Given the description of an element on the screen output the (x, y) to click on. 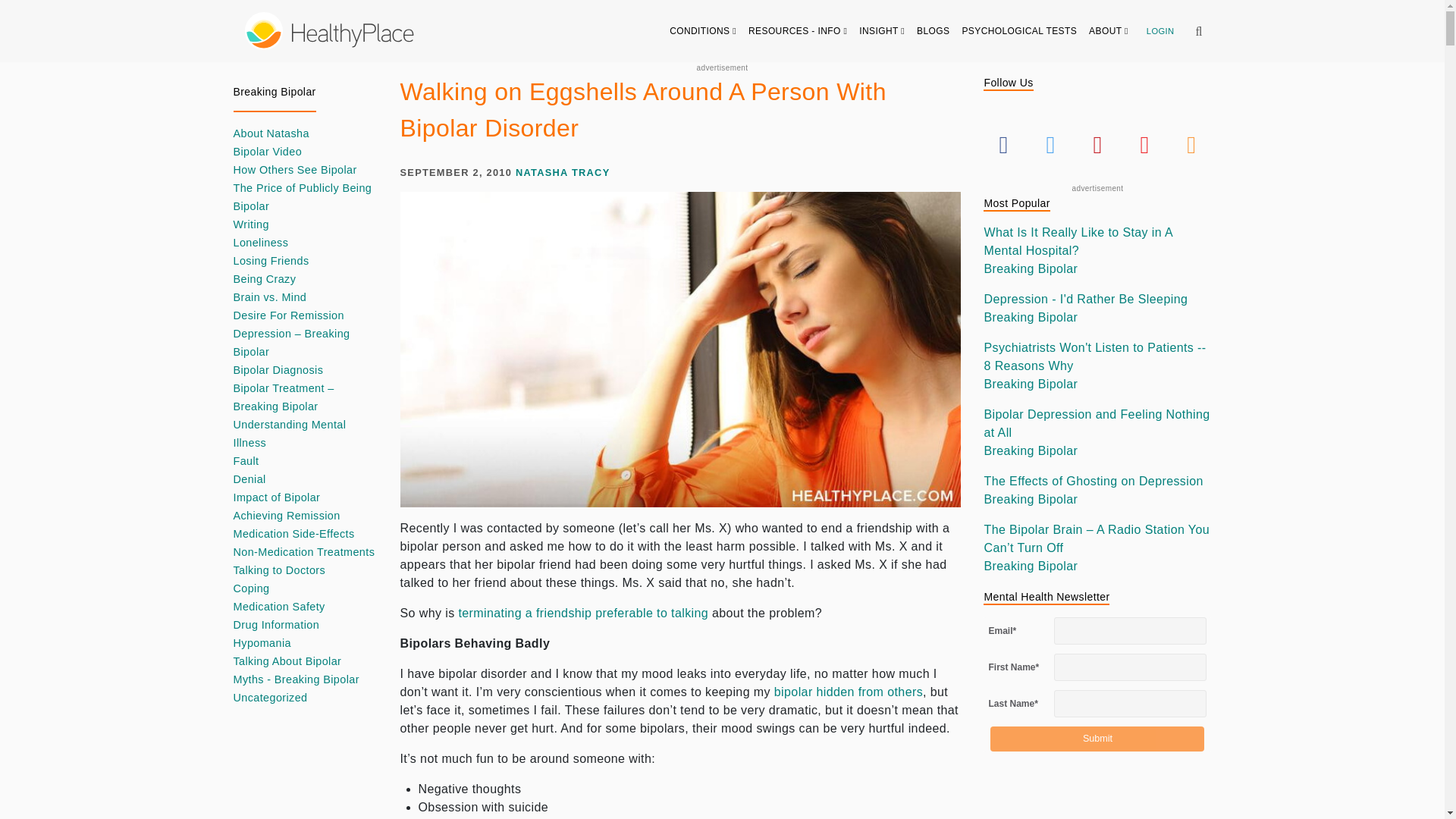
RESOURCES - INFO (797, 31)
Submit (1097, 738)
Bipolar As Love Thief (582, 612)
CONDITIONS (702, 31)
Bipolar Show and Tell (848, 691)
INSIGHT (882, 31)
